Given the description of an element on the screen output the (x, y) to click on. 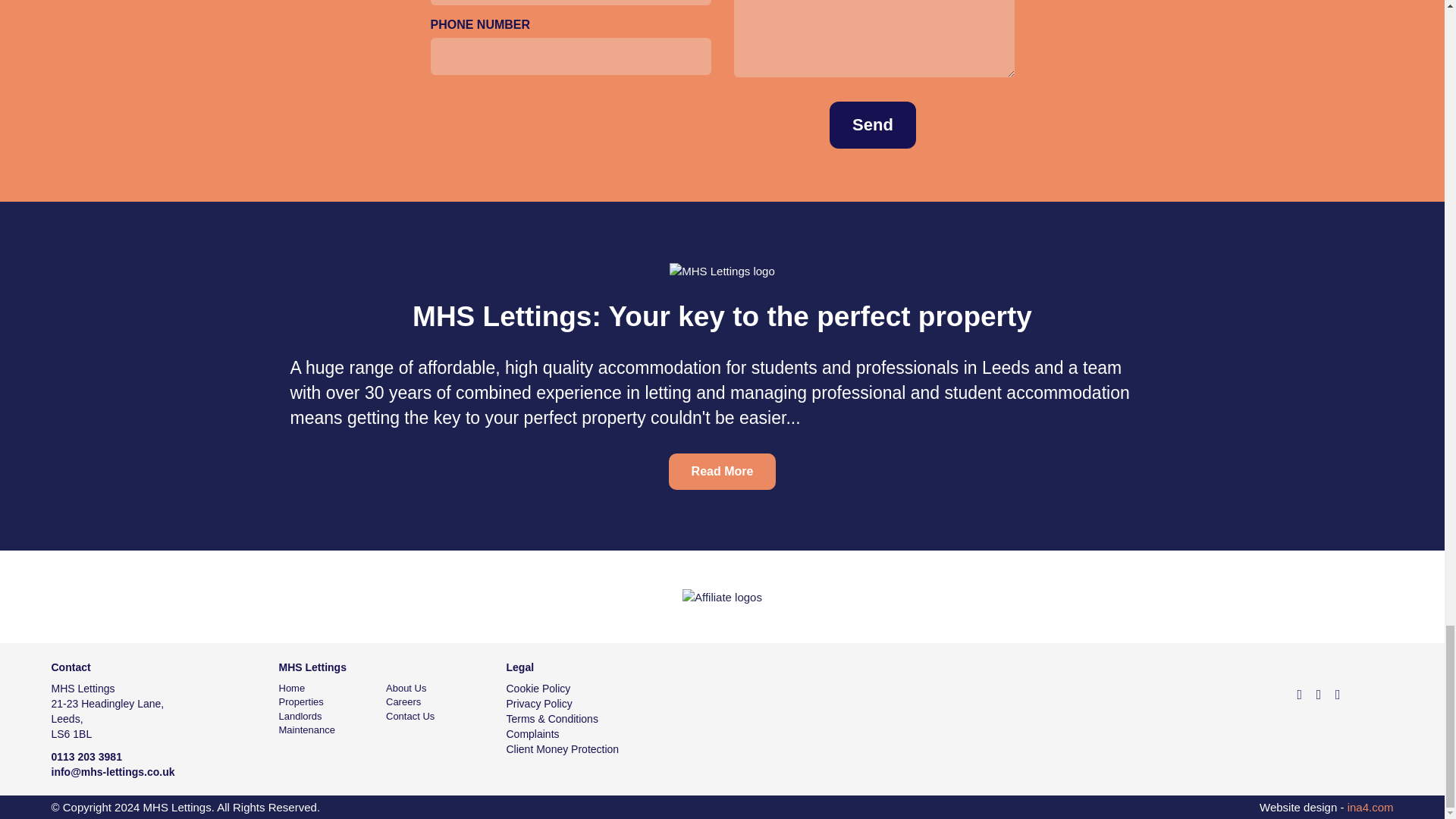
Maintenance (306, 729)
Send (872, 124)
Read More (722, 471)
Cookie Policy (538, 688)
Privacy Policy (539, 703)
Complaints (532, 734)
0113 203 3981 (86, 756)
Careers (402, 701)
Properties (301, 701)
Landlords (300, 715)
